Given the description of an element on the screen output the (x, y) to click on. 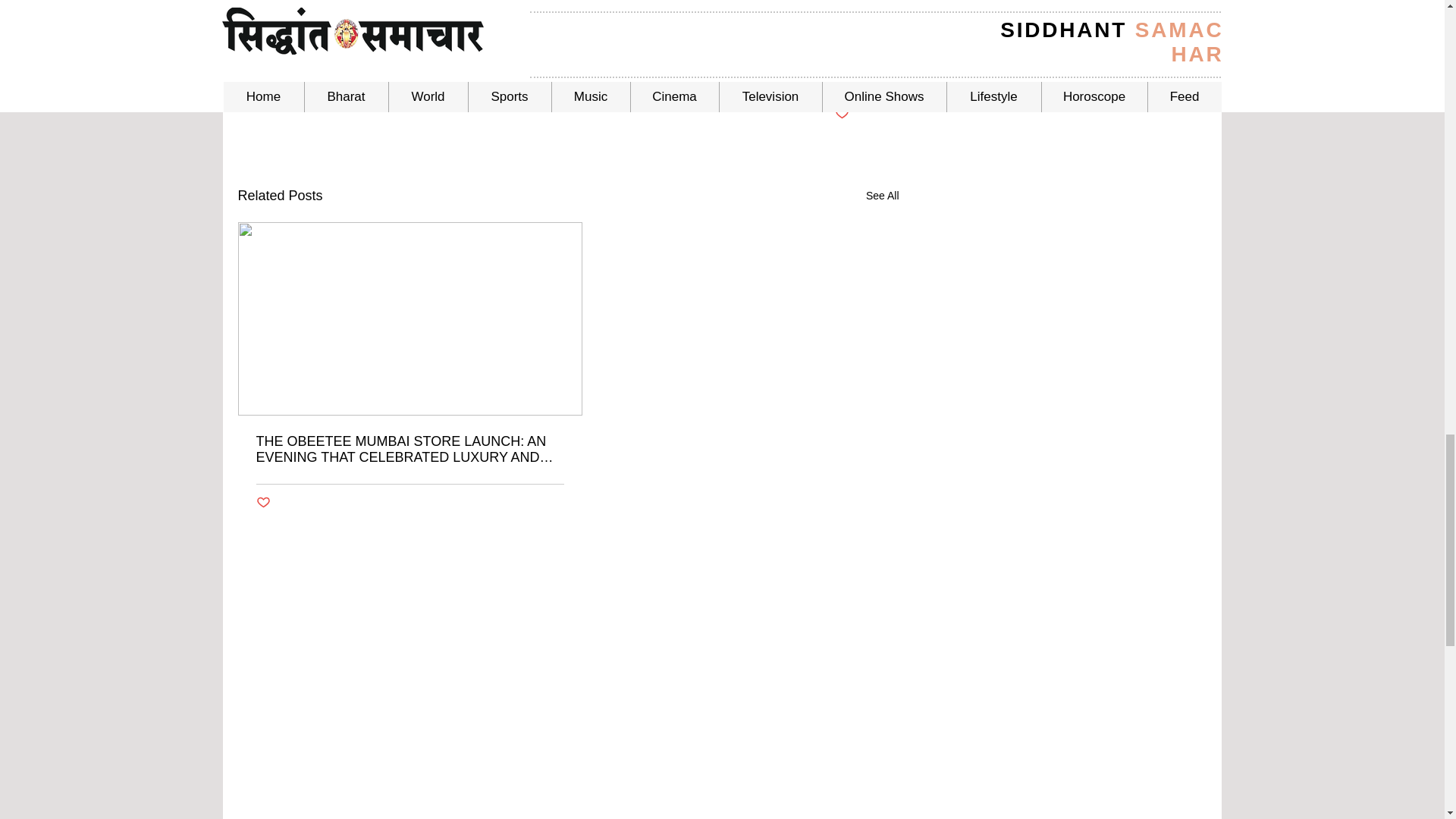
Post not marked as liked (263, 503)
See All (882, 196)
Post not marked as liked (841, 114)
